Given the description of an element on the screen output the (x, y) to click on. 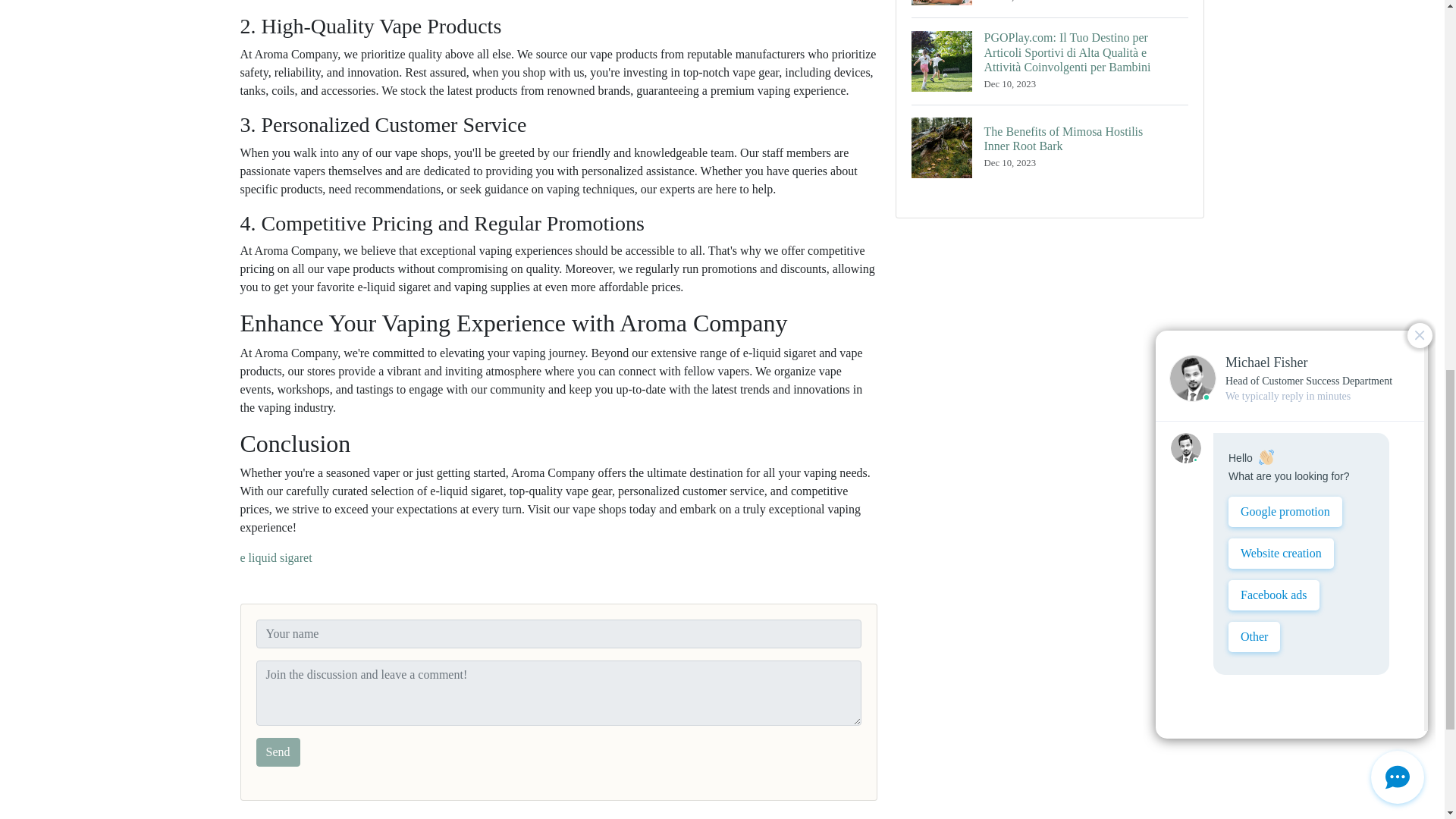
e liquid sigaret (275, 557)
Send (1050, 147)
Send (277, 751)
